Given the description of an element on the screen output the (x, y) to click on. 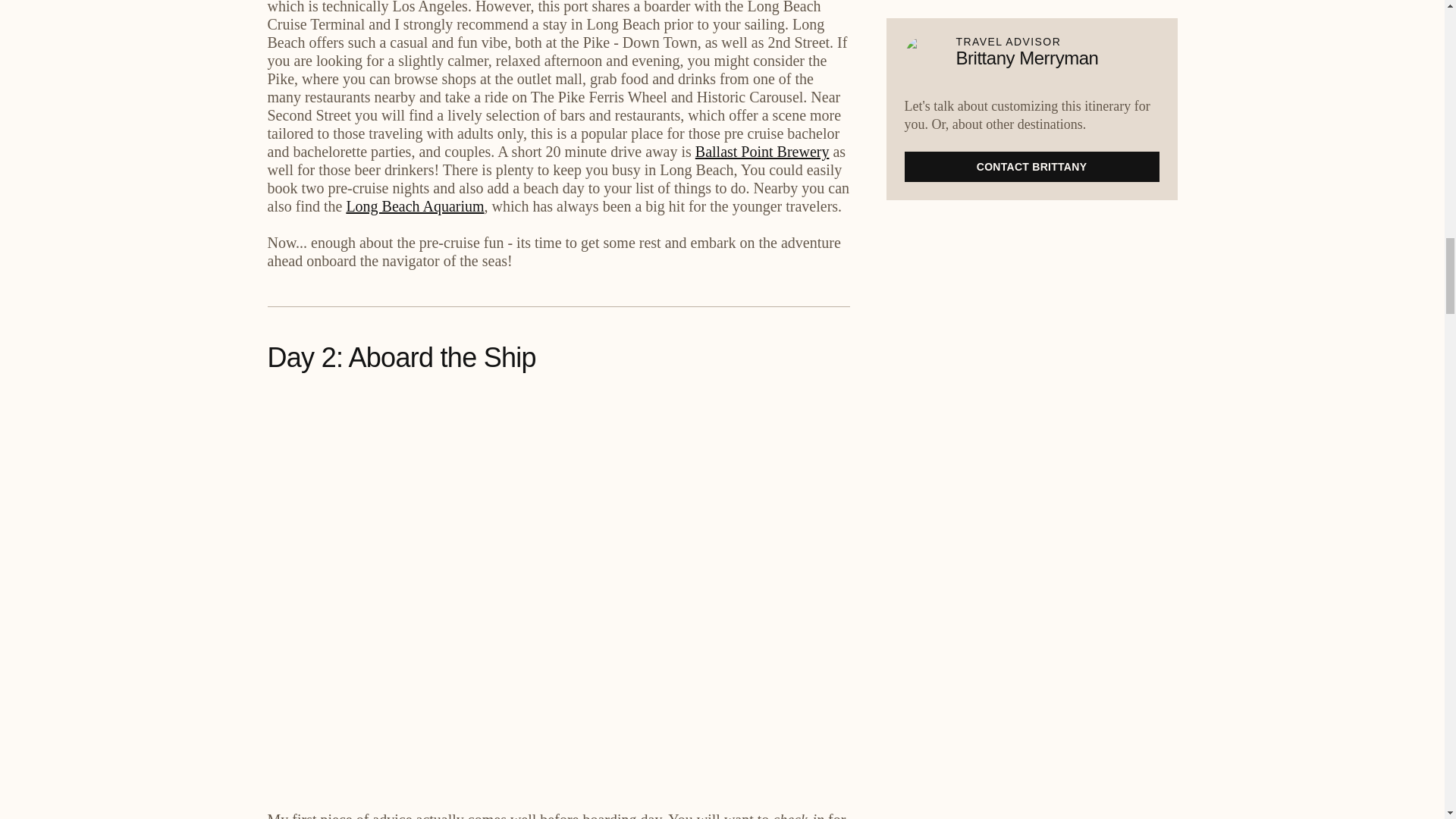
Long Beach Aquarium (414, 206)
Ballast Point Brewery (762, 151)
